Given the description of an element on the screen output the (x, y) to click on. 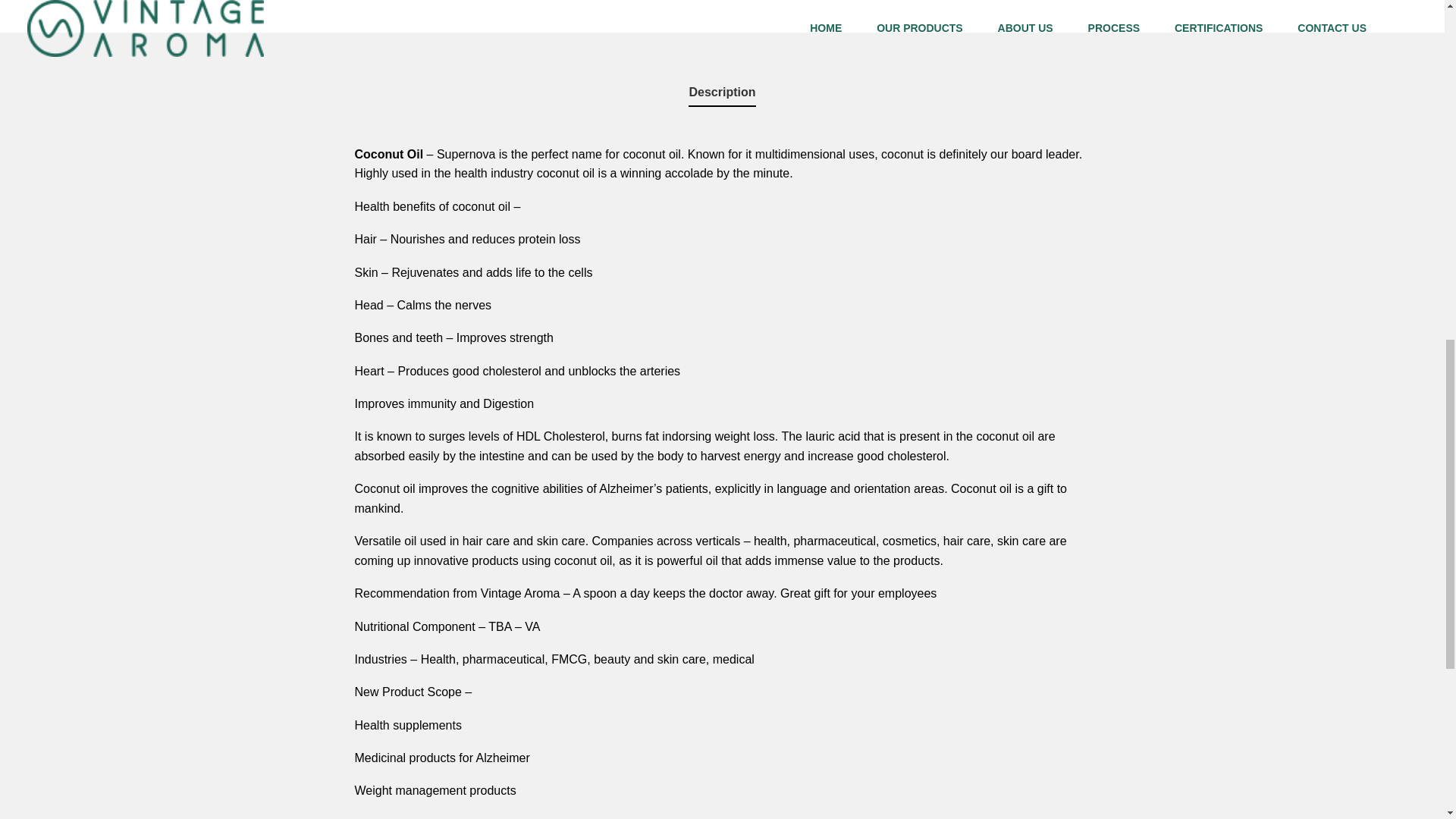
Description (721, 93)
